Given the description of an element on the screen output the (x, y) to click on. 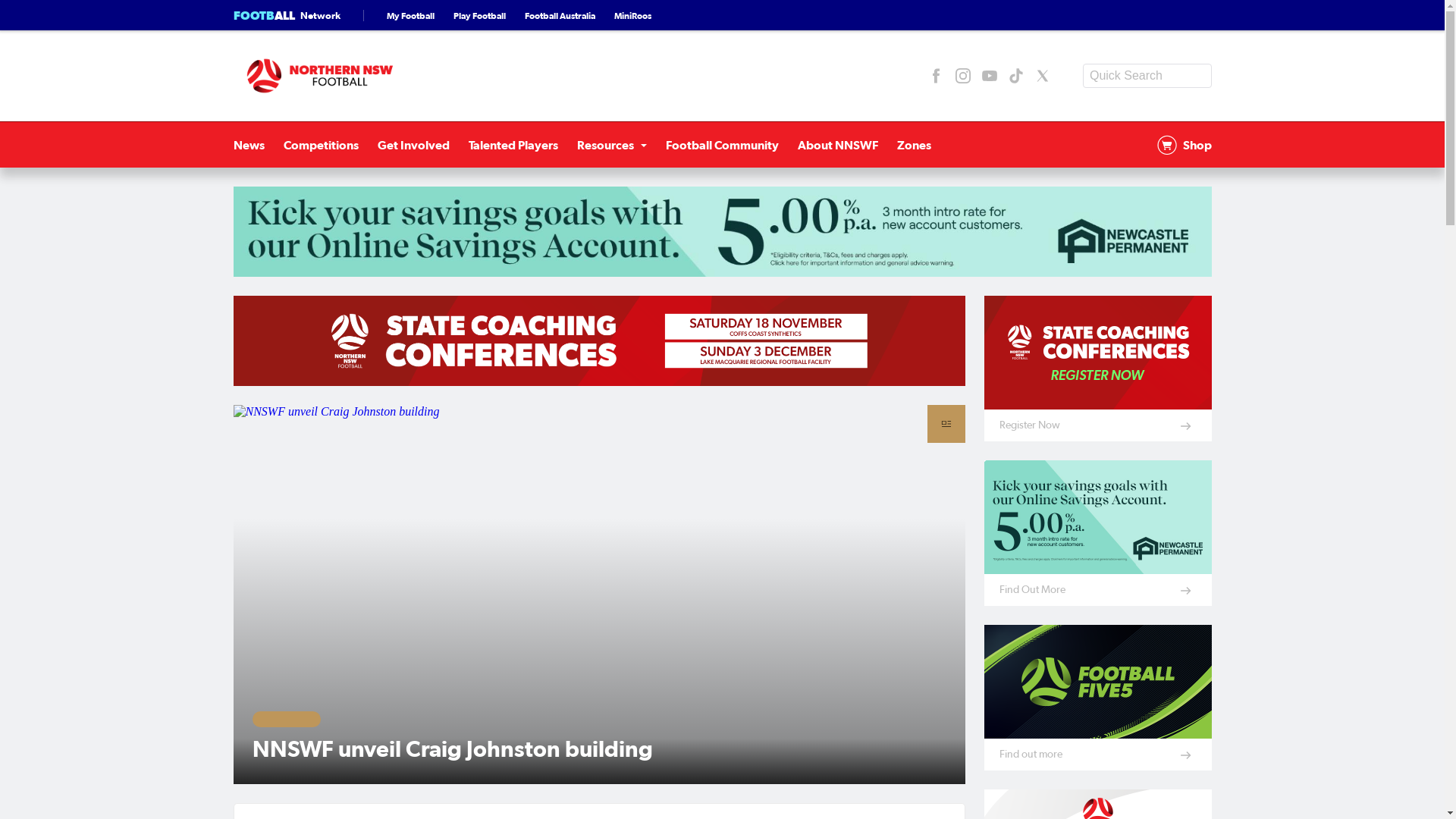
Find Out More Element type: text (1097, 532)
Find out more Element type: text (1097, 697)
Zones Element type: text (913, 144)
My Football Element type: text (410, 15)
Shop Element type: text (1184, 144)
Football Community Element type: text (721, 144)
Football Australia Element type: text (559, 15)
News Element type: text (248, 144)
Register Now Element type: text (1097, 368)
Get Involved Element type: text (413, 144)
Talented Players Element type: text (513, 144)
Competitions Element type: text (320, 144)
About NNSWF Element type: text (837, 144)
MiniRoos Element type: text (632, 15)
Play Football Element type: text (479, 15)
